Given the description of an element on the screen output the (x, y) to click on. 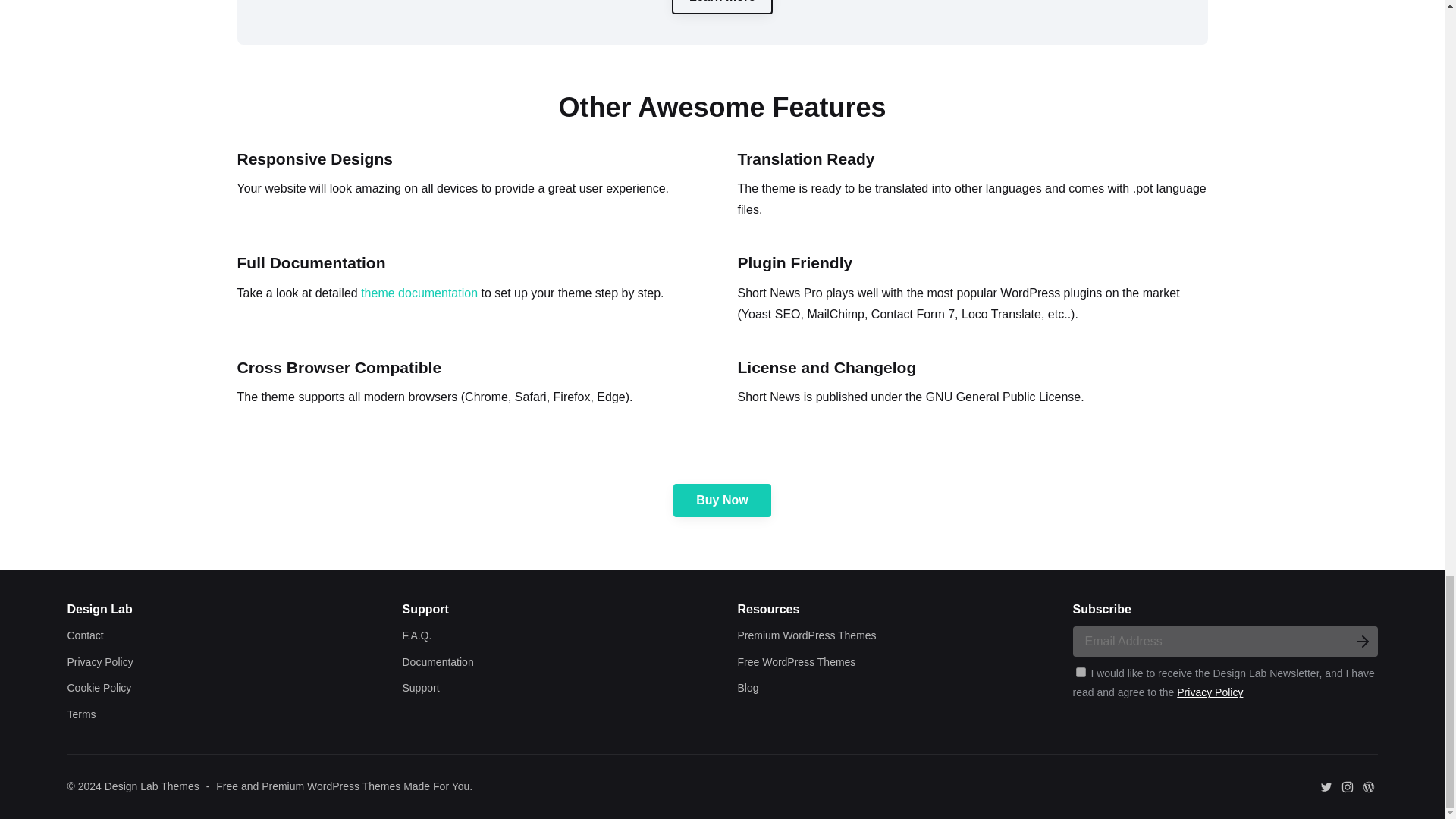
Cookie Policy (98, 687)
Learn more (722, 6)
Premium WordPress Themes (806, 635)
Support (420, 687)
Terms (81, 714)
theme documentation (419, 292)
Documentation (437, 662)
1 (1079, 672)
Subscribe (1361, 641)
F.A.Q. (415, 635)
Contact (84, 635)
Free WordPress Themes (796, 662)
Buy Now (721, 500)
Privacy Policy (99, 662)
